Given the description of an element on the screen output the (x, y) to click on. 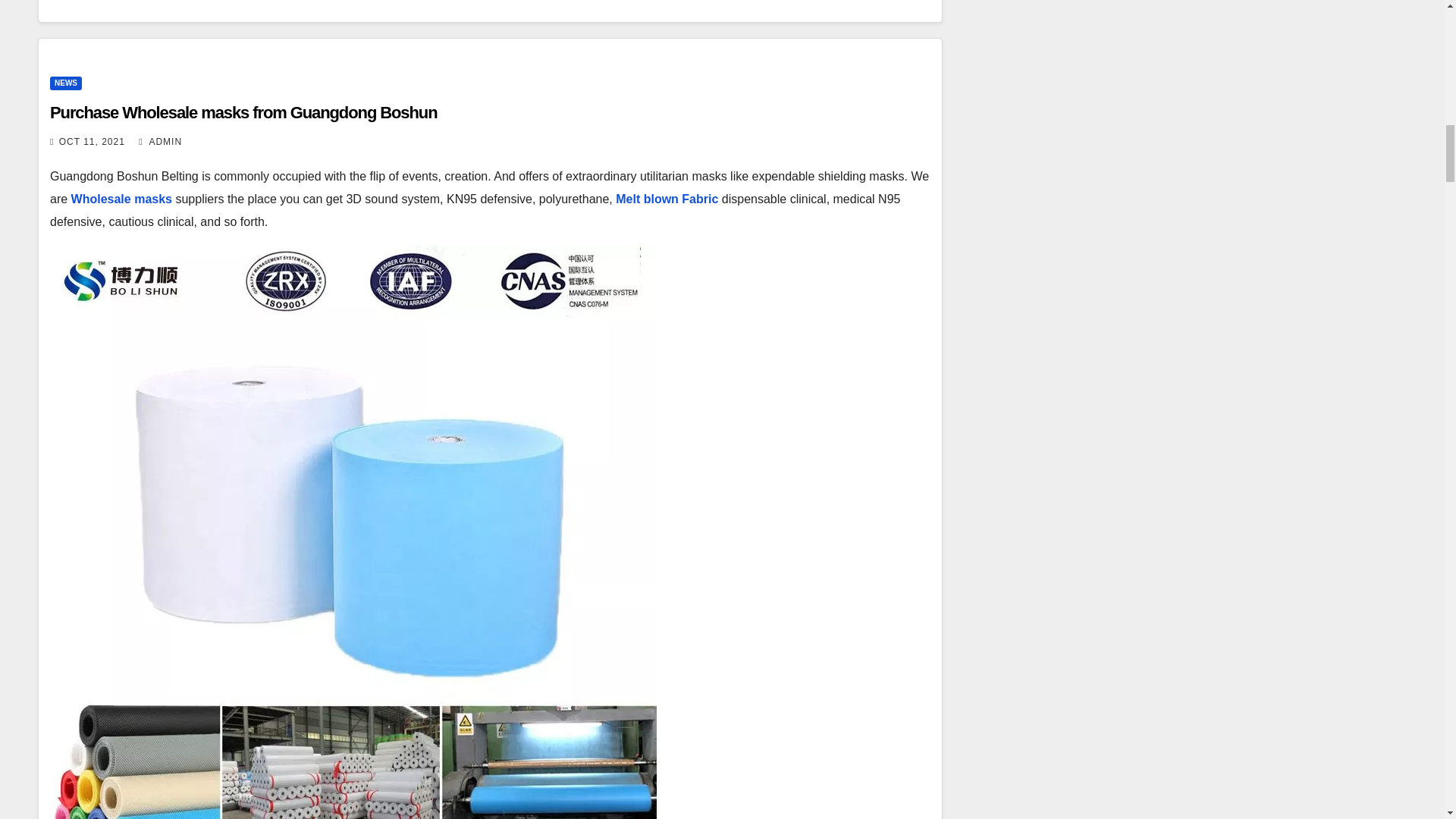
Melt blown Fabric (666, 198)
ADMIN (160, 141)
NEWS (65, 83)
Wholesale masks (121, 198)
OCT 11, 2021 (92, 141)
Purchase Wholesale masks from Guangdong Boshun (243, 112)
